Given the description of an element on the screen output the (x, y) to click on. 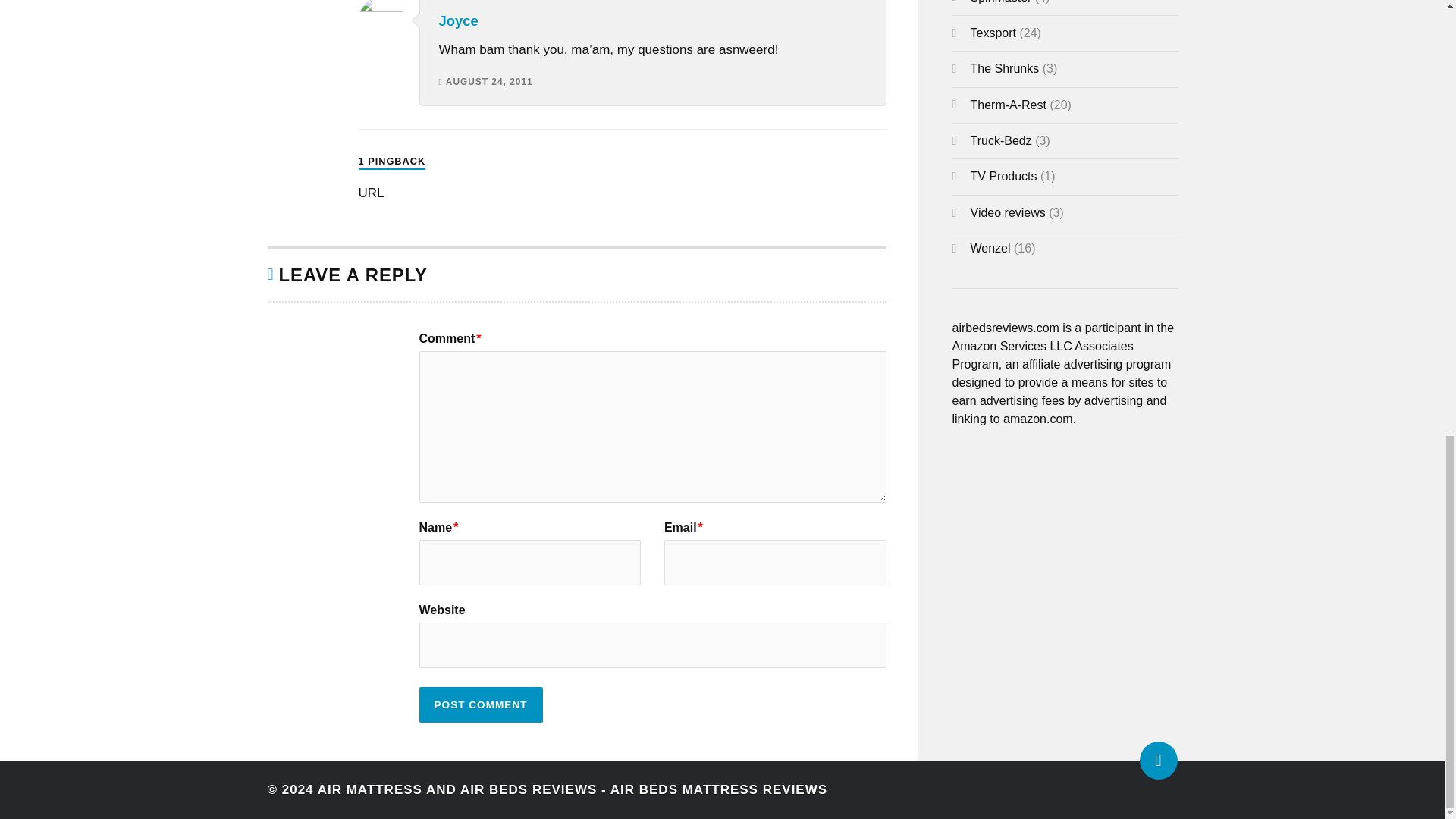
The Shrunks (1005, 68)
AUGUST 24, 2011 (488, 81)
Post Comment (480, 704)
Joyce (457, 20)
August 24, 2011 at 2:05 am (488, 81)
Therm-A-Rest (1008, 104)
Post Comment (480, 704)
To the top (1157, 760)
SpinMaster (1001, 2)
Texsport (993, 32)
